Given the description of an element on the screen output the (x, y) to click on. 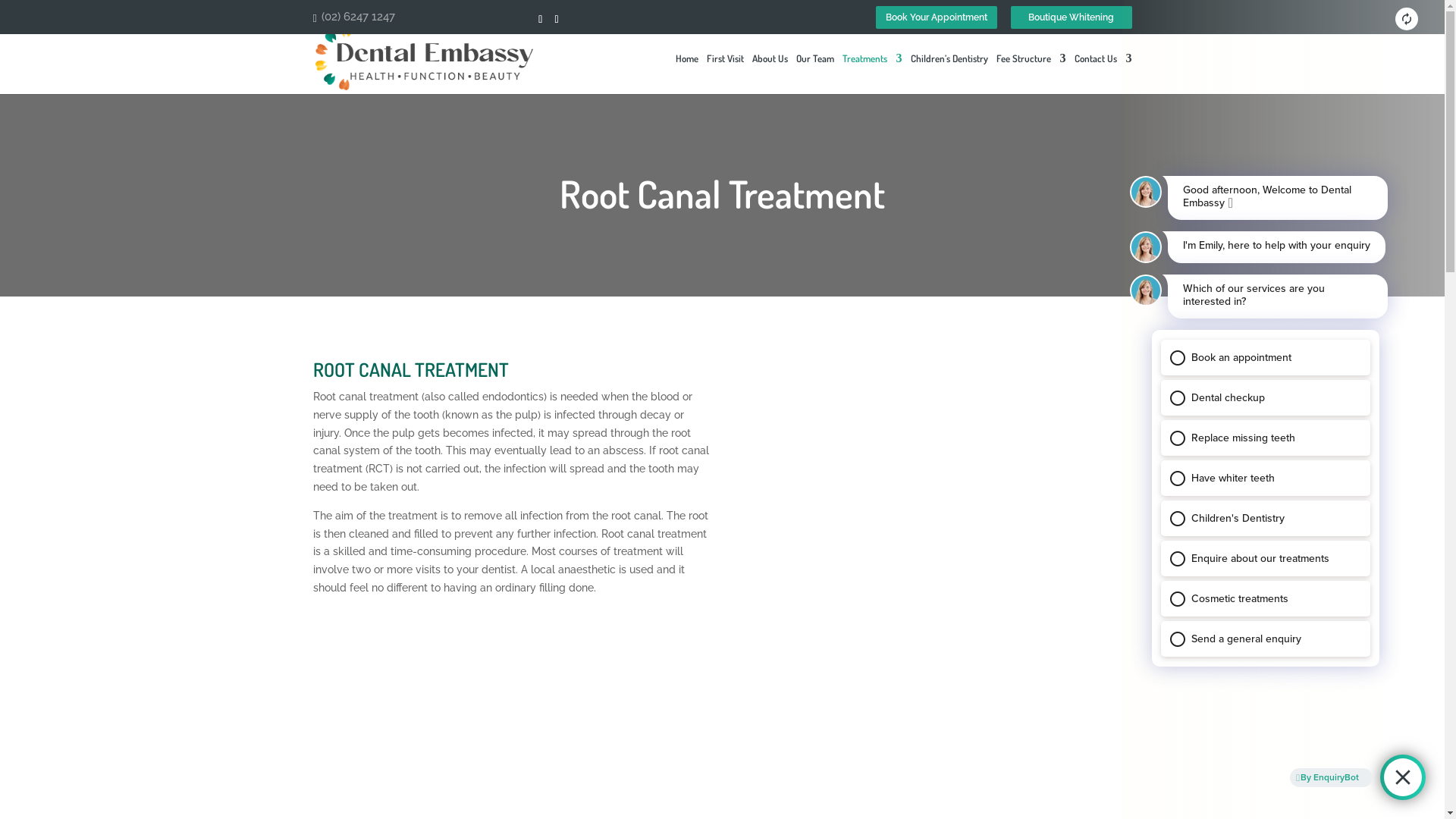
Home Element type: text (685, 73)
Treatments Element type: text (871, 73)
First Visit Element type: text (724, 73)
Book Your Appointment Element type: text (935, 17)
Fee Structure Element type: text (1031, 73)
rct-800x600 Element type: hover (933, 506)
Contact Us Element type: text (1102, 73)
Our Team Element type: text (815, 73)
About Us Element type: text (769, 73)
By EnquiryBot Element type: text (1327, 776)
Boutique Whitening Element type: text (1070, 17)
(02) 6247 1247 Element type: text (356, 16)
